Given the description of an element on the screen output the (x, y) to click on. 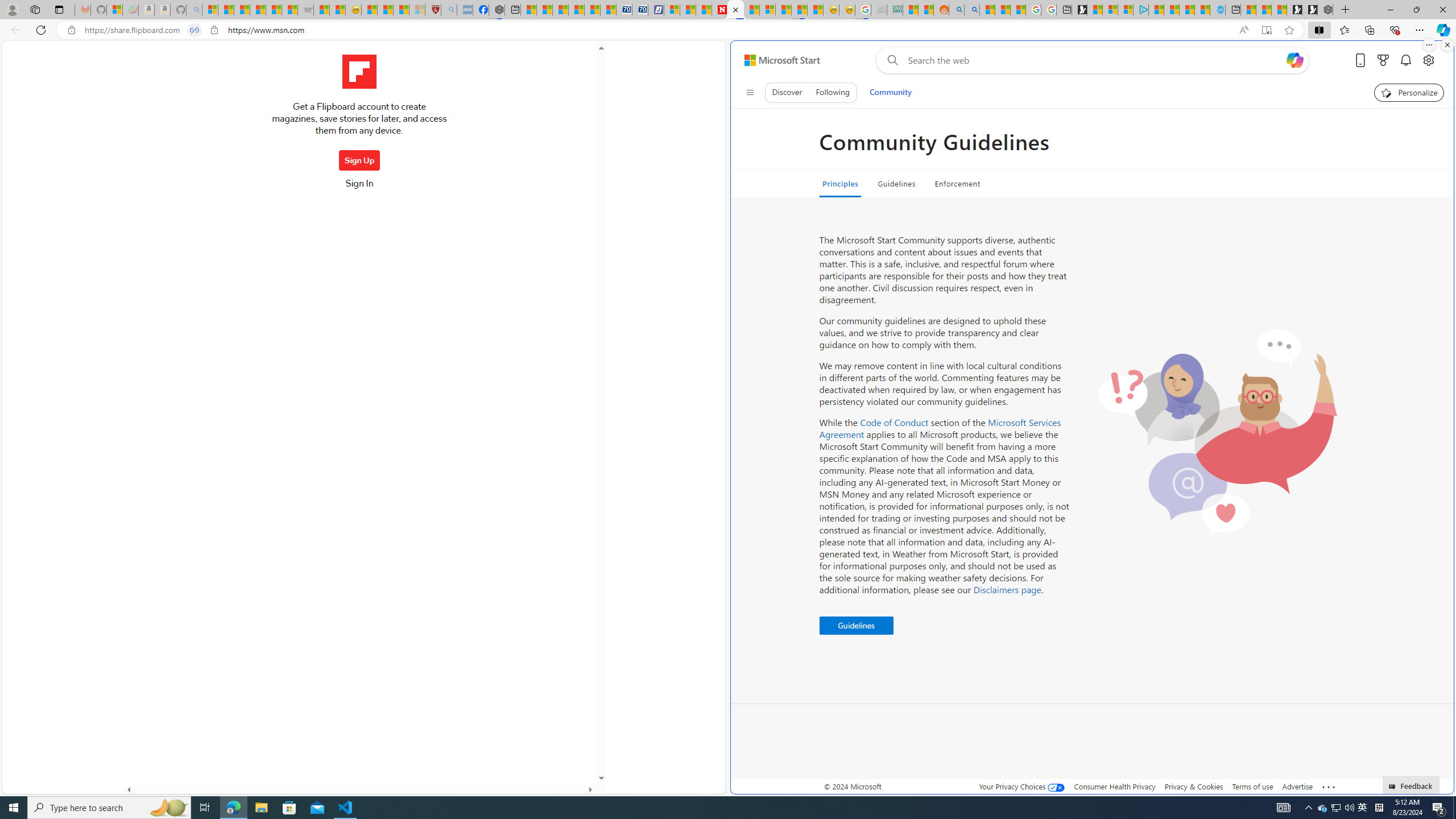
Newsweek - News, Analysis, Politics, Business, Technology (719, 9)
The Weather Channel - MSN (241, 9)
Class: logo (359, 71)
Your Privacy Choices (1021, 786)
